Given the description of an element on the screen output the (x, y) to click on. 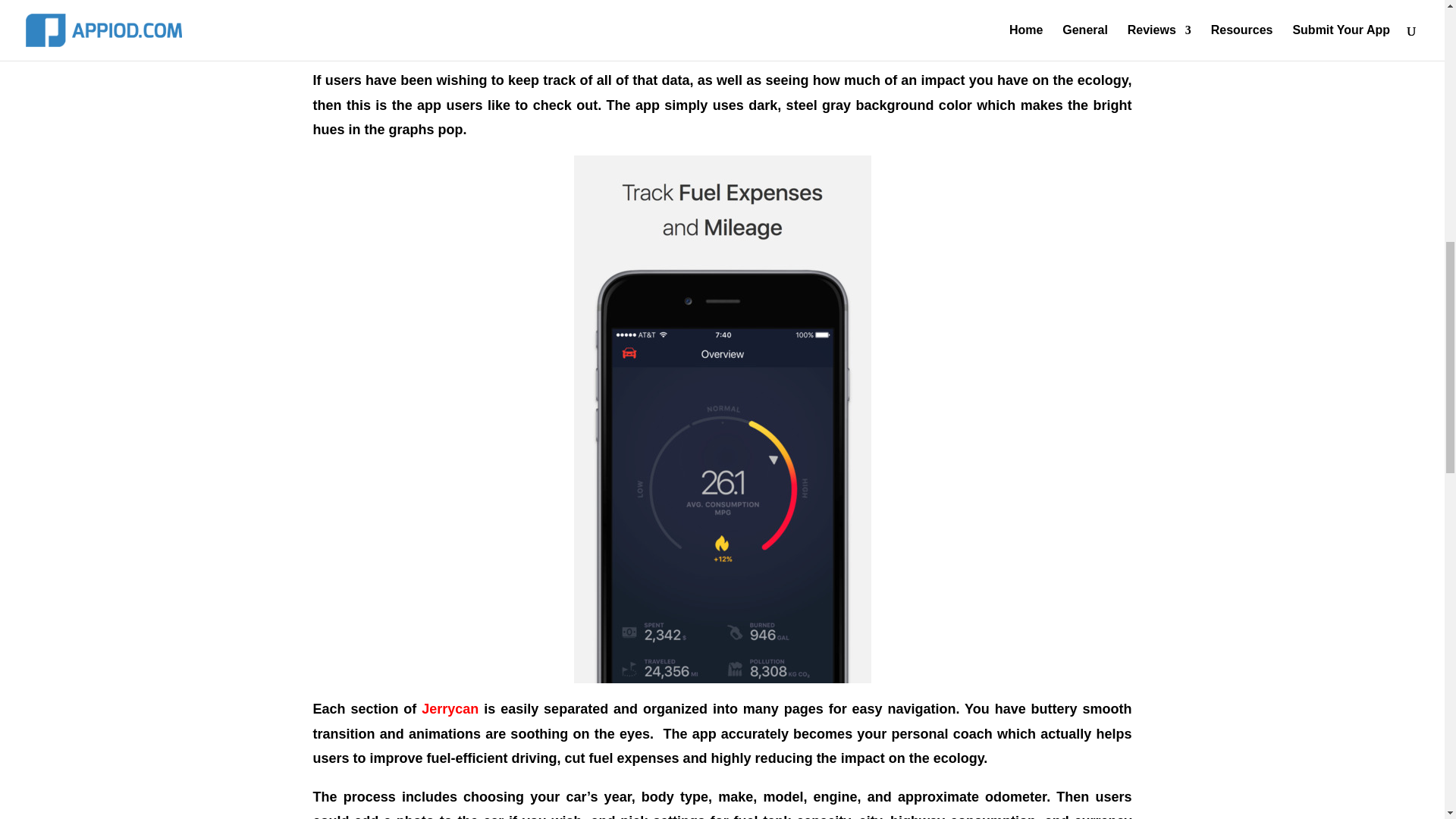
Jerrycan (450, 708)
Jerrycan (450, 708)
